Given the description of an element on the screen output the (x, y) to click on. 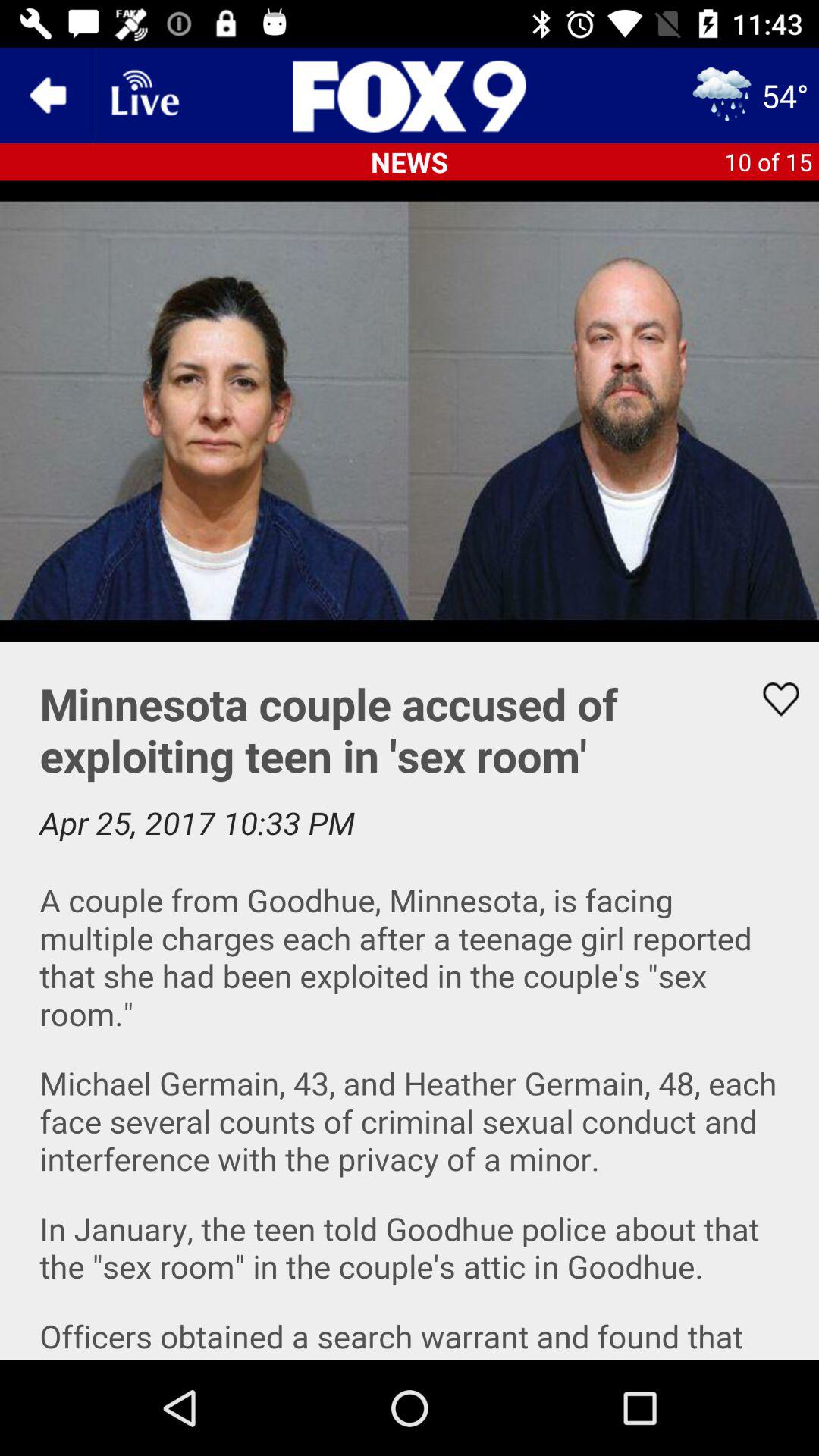
open full story (409, 1000)
